Given the description of an element on the screen output the (x, y) to click on. 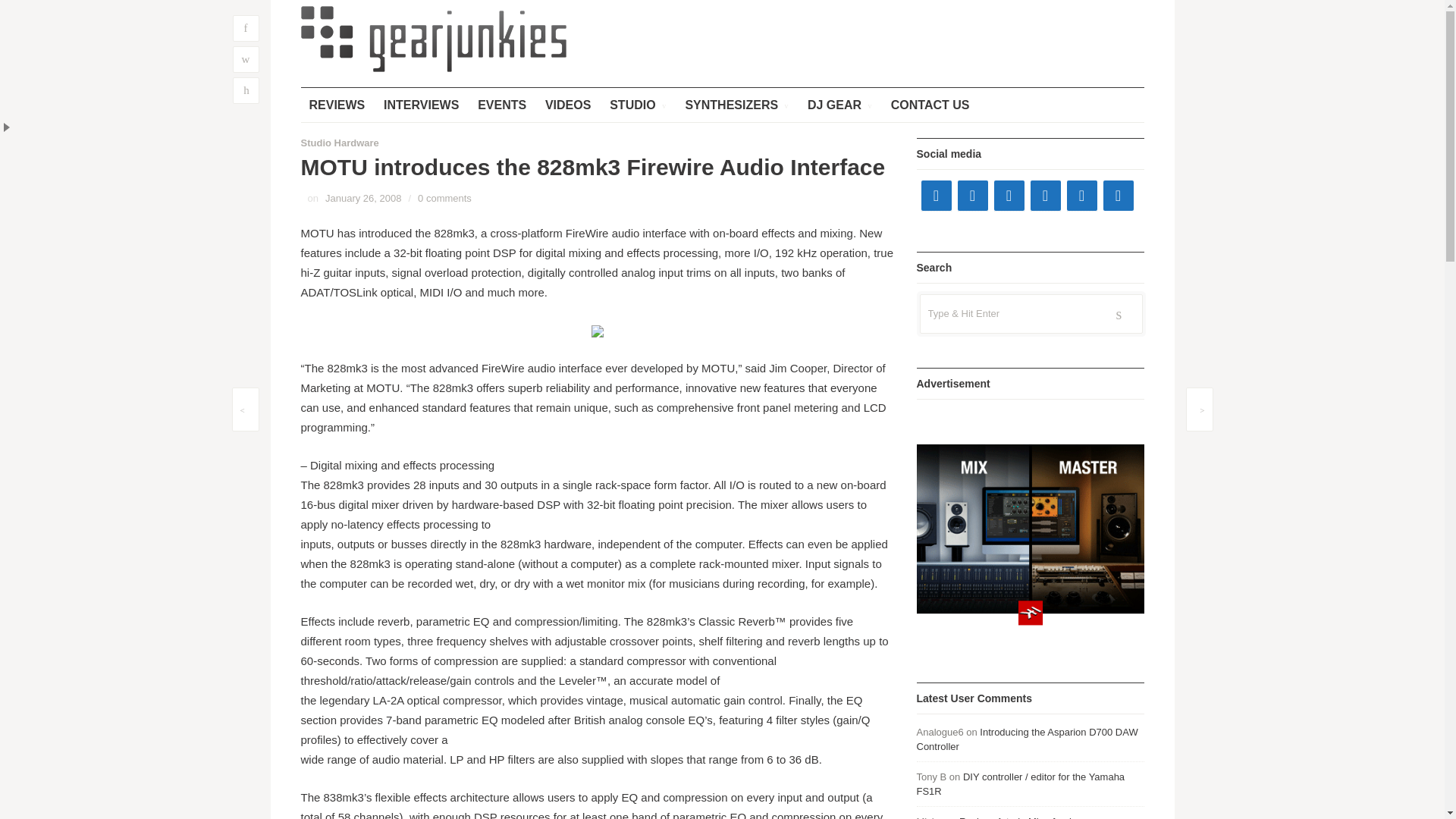
STUDIO (637, 104)
January 26, 2008 (362, 197)
EVENTS (501, 104)
REVIEWS (335, 104)
w (245, 58)
CONTACT US (930, 104)
f (245, 28)
INTERVIEWS (421, 104)
DJ GEAR (839, 104)
